Given the description of an element on the screen output the (x, y) to click on. 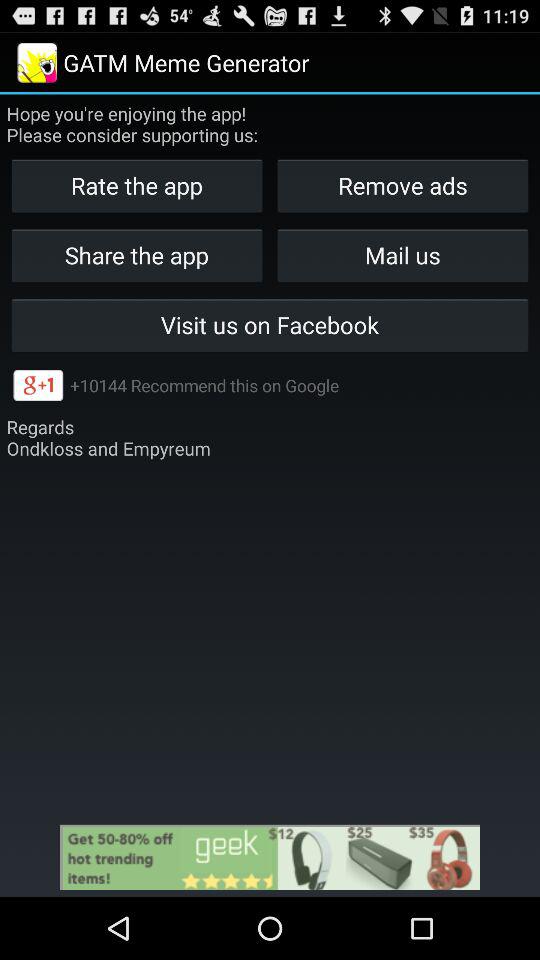
open advertisement (270, 857)
